Given the description of an element on the screen output the (x, y) to click on. 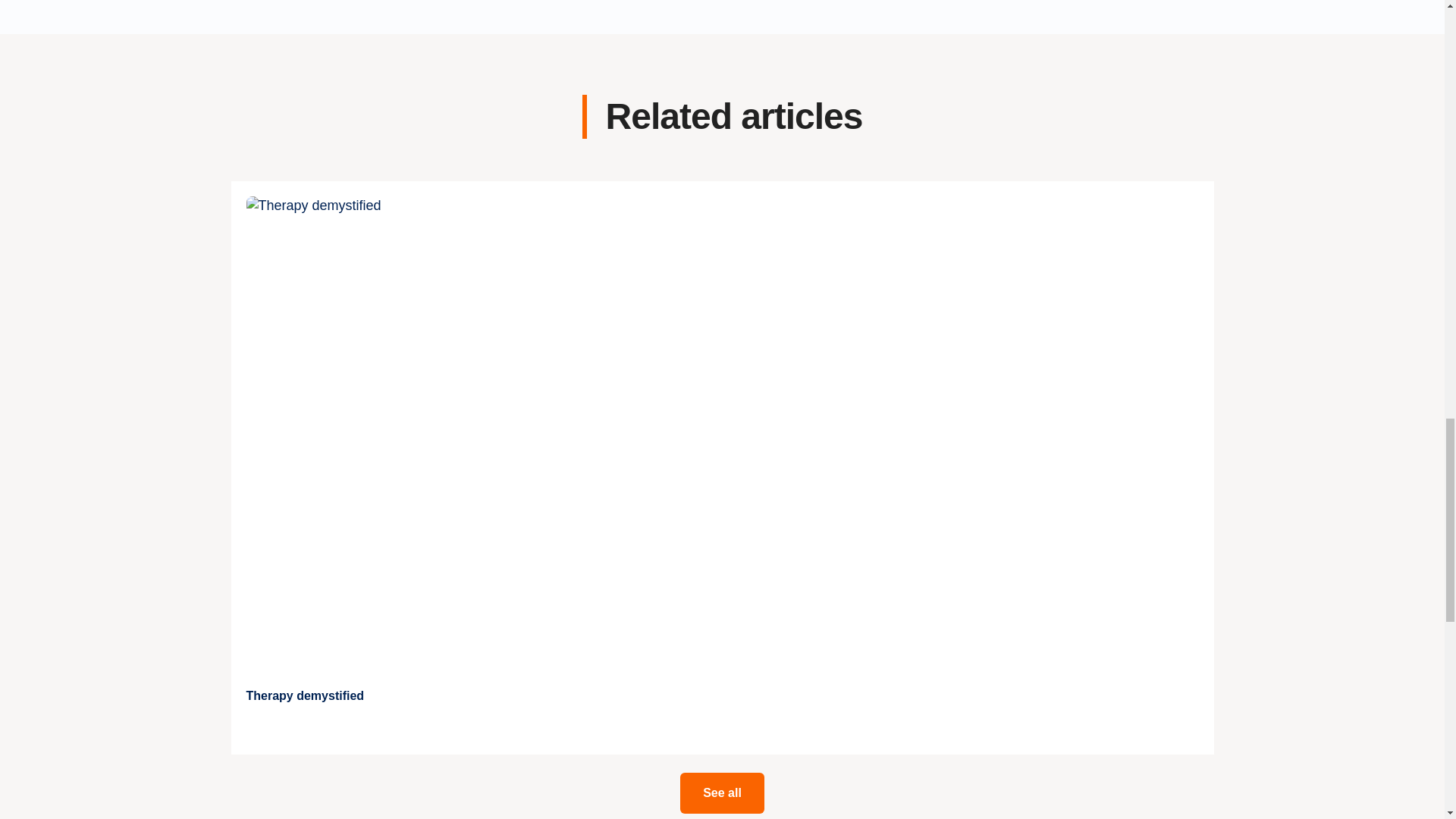
See all (721, 793)
Therapy demystified (305, 696)
